Given the description of an element on the screen output the (x, y) to click on. 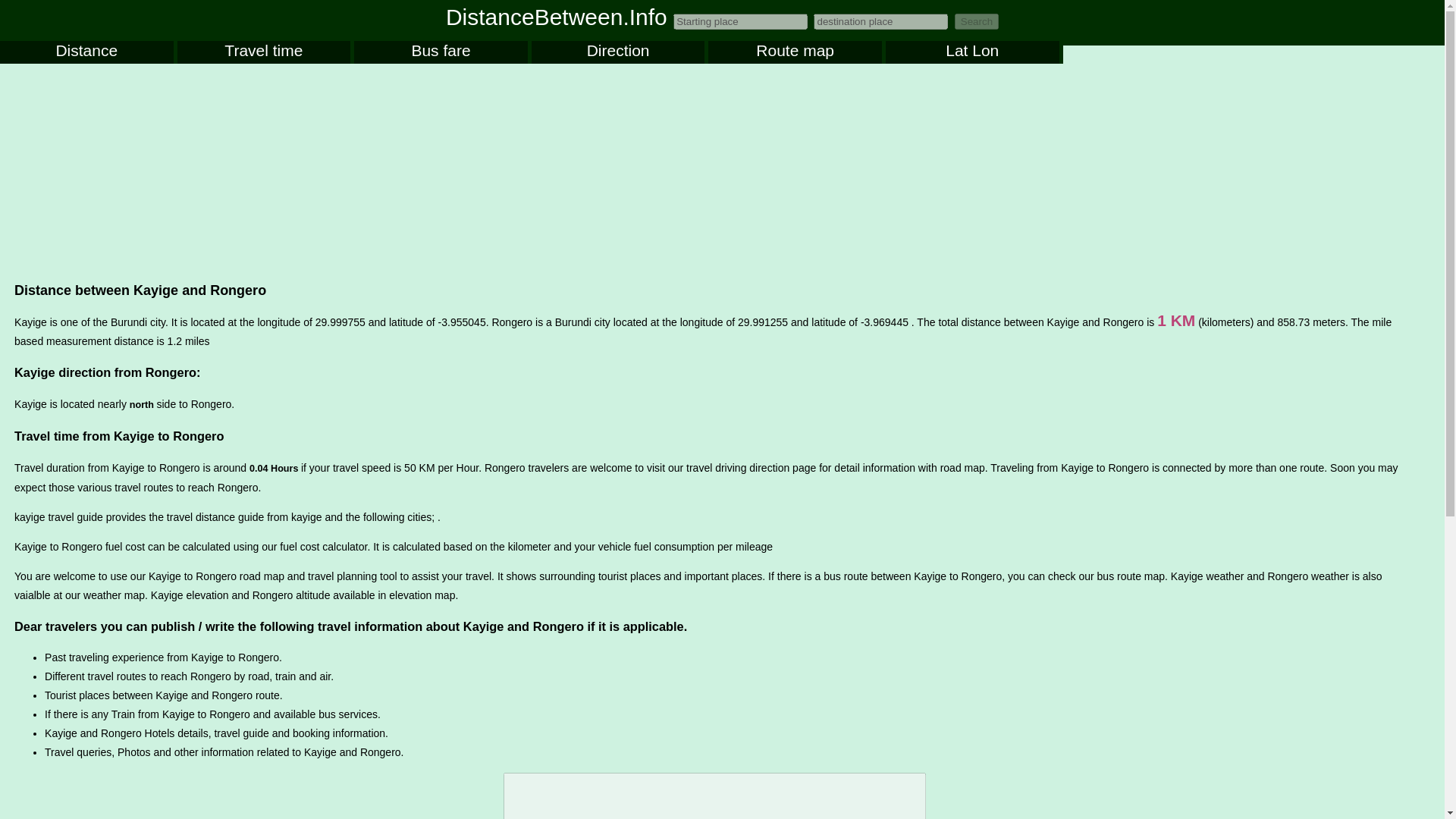
Distance (86, 51)
Route map (794, 51)
destination place (880, 21)
Direction (617, 51)
Search (976, 21)
Travel time (263, 51)
Lat Lon (972, 51)
Starting place (740, 21)
Bus fare (440, 51)
